Given the description of an element on the screen output the (x, y) to click on. 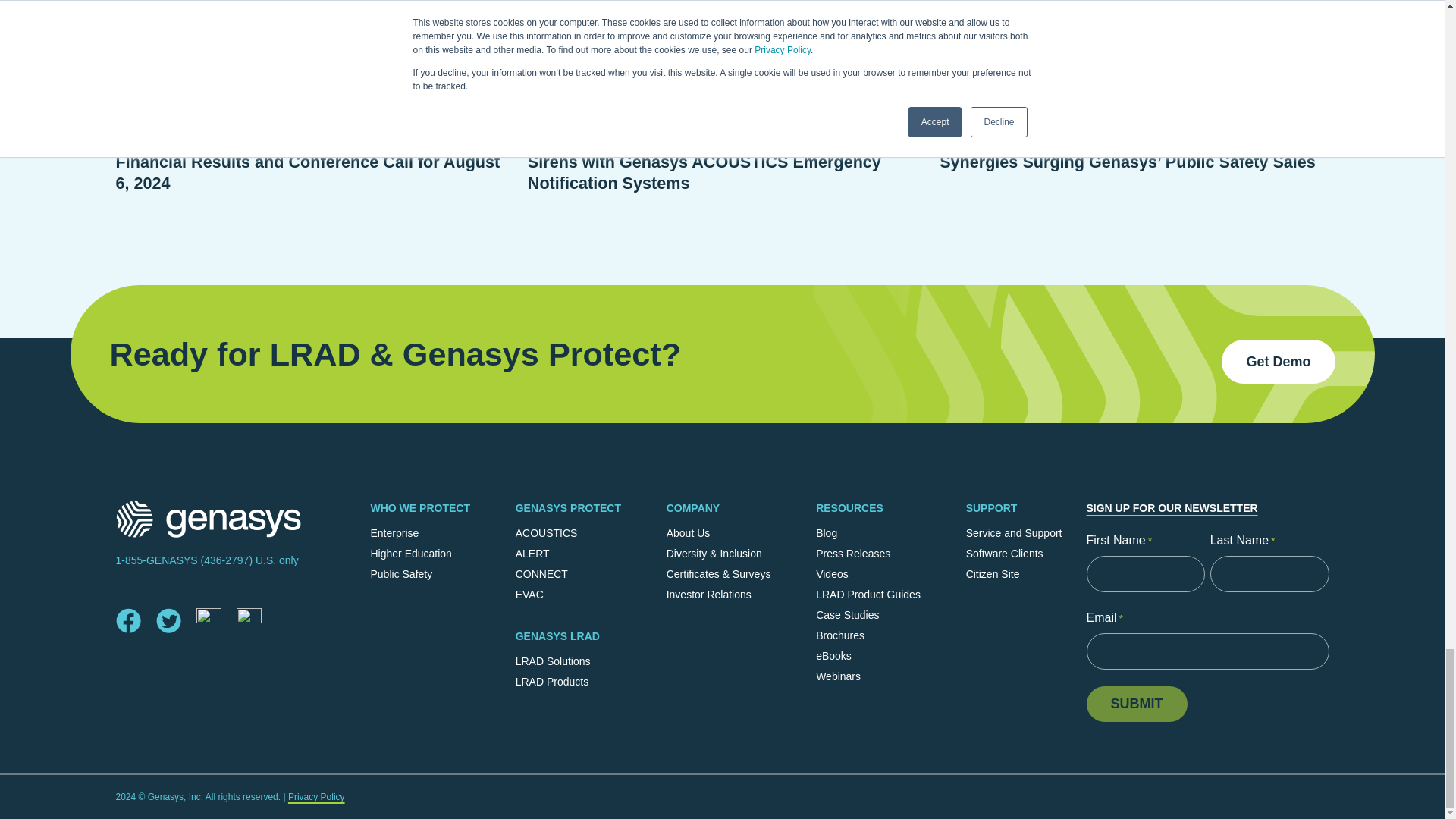
Submit (1136, 703)
